Given the description of an element on the screen output the (x, y) to click on. 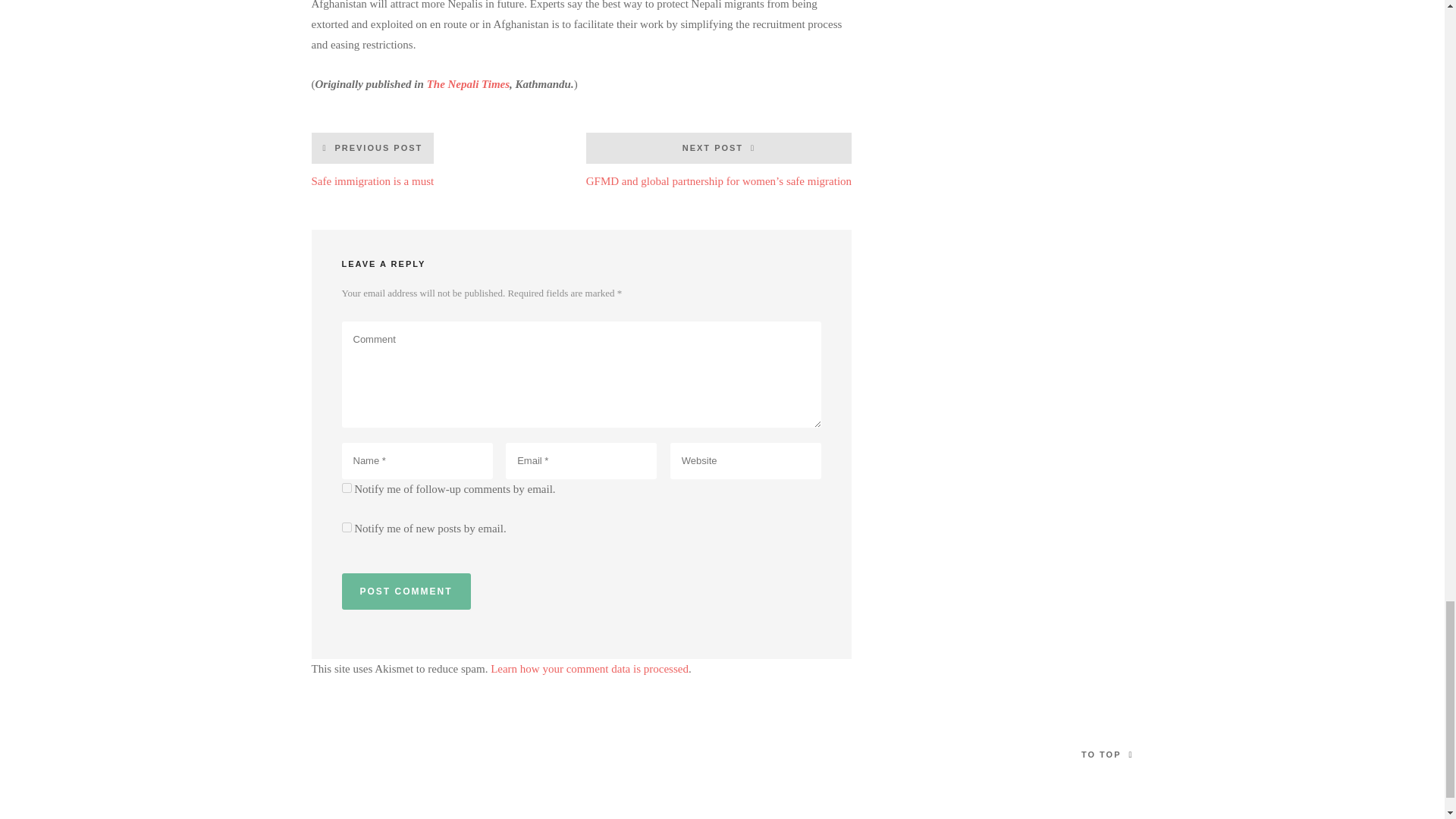
Learn how your comment data is processed (589, 668)
The Nepali Times (467, 83)
subscribe (345, 488)
Post Comment (372, 159)
Post Comment (405, 591)
subscribe (405, 591)
TO TOP (345, 527)
